Given the description of an element on the screen output the (x, y) to click on. 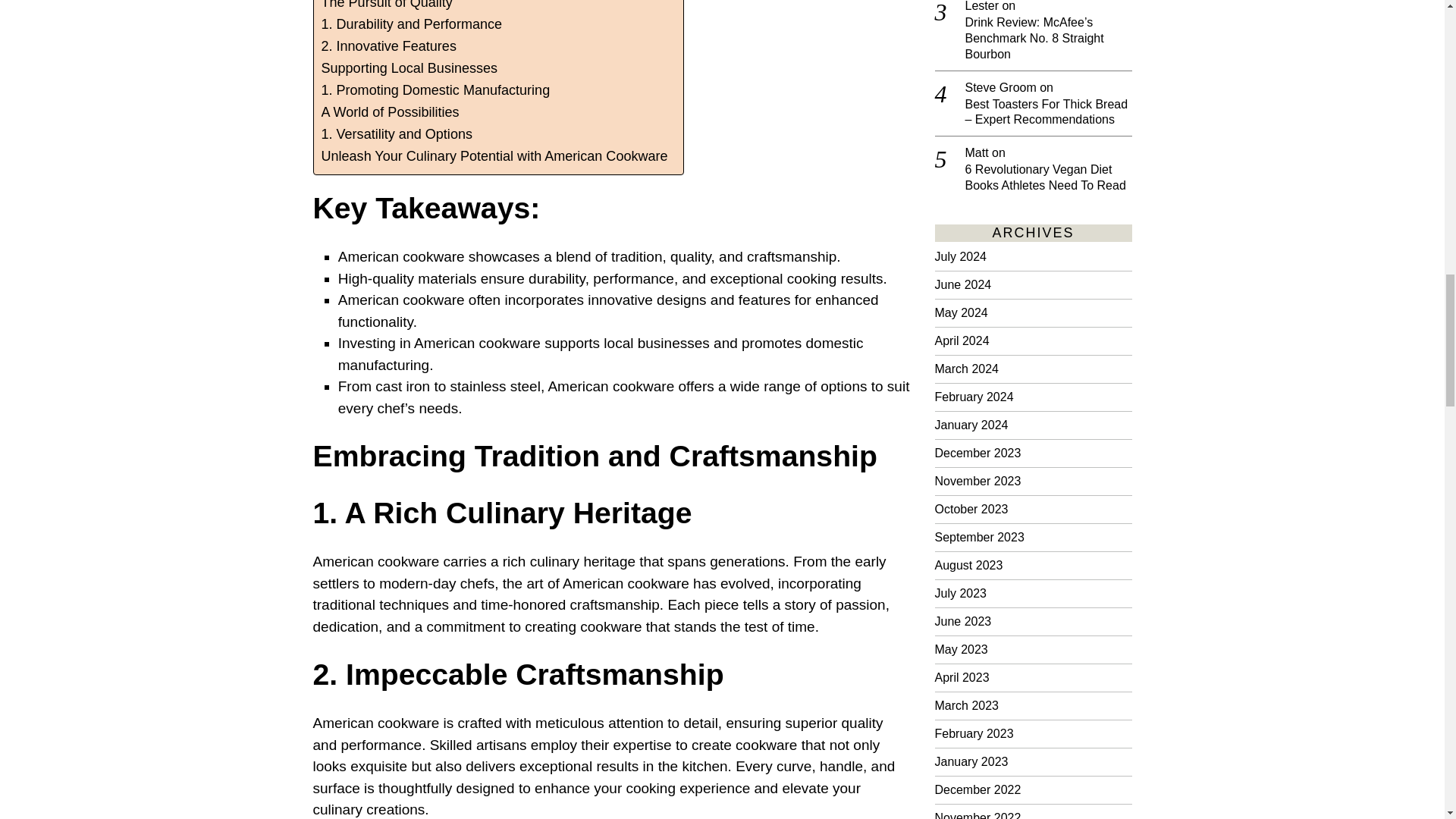
The Pursuit of Quality (386, 6)
The Pursuit of Quality (386, 6)
Supporting Local Businesses (409, 68)
1. Versatility and Options (396, 134)
1. Versatility and Options (396, 134)
1. Promoting Domestic Manufacturing (435, 90)
1. Durability and Performance (411, 24)
A World of Possibilities (390, 112)
2. Innovative Features (389, 46)
Unleash Your Culinary Potential with American Cookware (494, 156)
2. Innovative Features (389, 46)
Supporting Local Businesses (409, 68)
1. Durability and Performance (411, 24)
Unleash Your Culinary Potential with American Cookware (494, 156)
A World of Possibilities (390, 112)
